Given the description of an element on the screen output the (x, y) to click on. 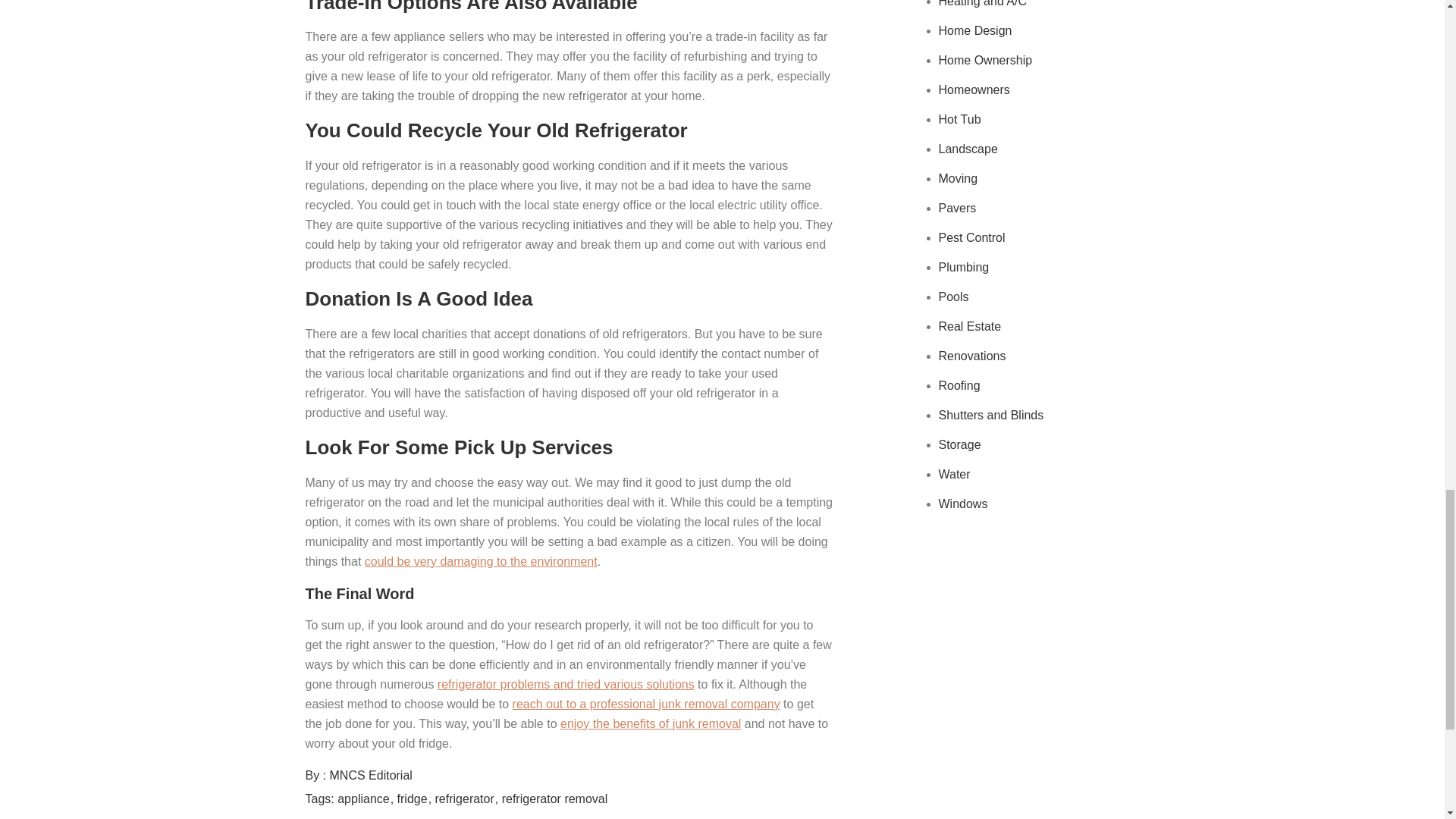
MNCS Editorial (371, 775)
appliance (365, 798)
refrigerator removal (555, 798)
fridge (413, 798)
reach out to a professional junk removal company (646, 703)
could be very damaging to the environment (480, 561)
enjoy the benefits of junk removal (650, 723)
refrigerator problems and tried various solutions (566, 684)
refrigerator (467, 798)
